Given the description of an element on the screen output the (x, y) to click on. 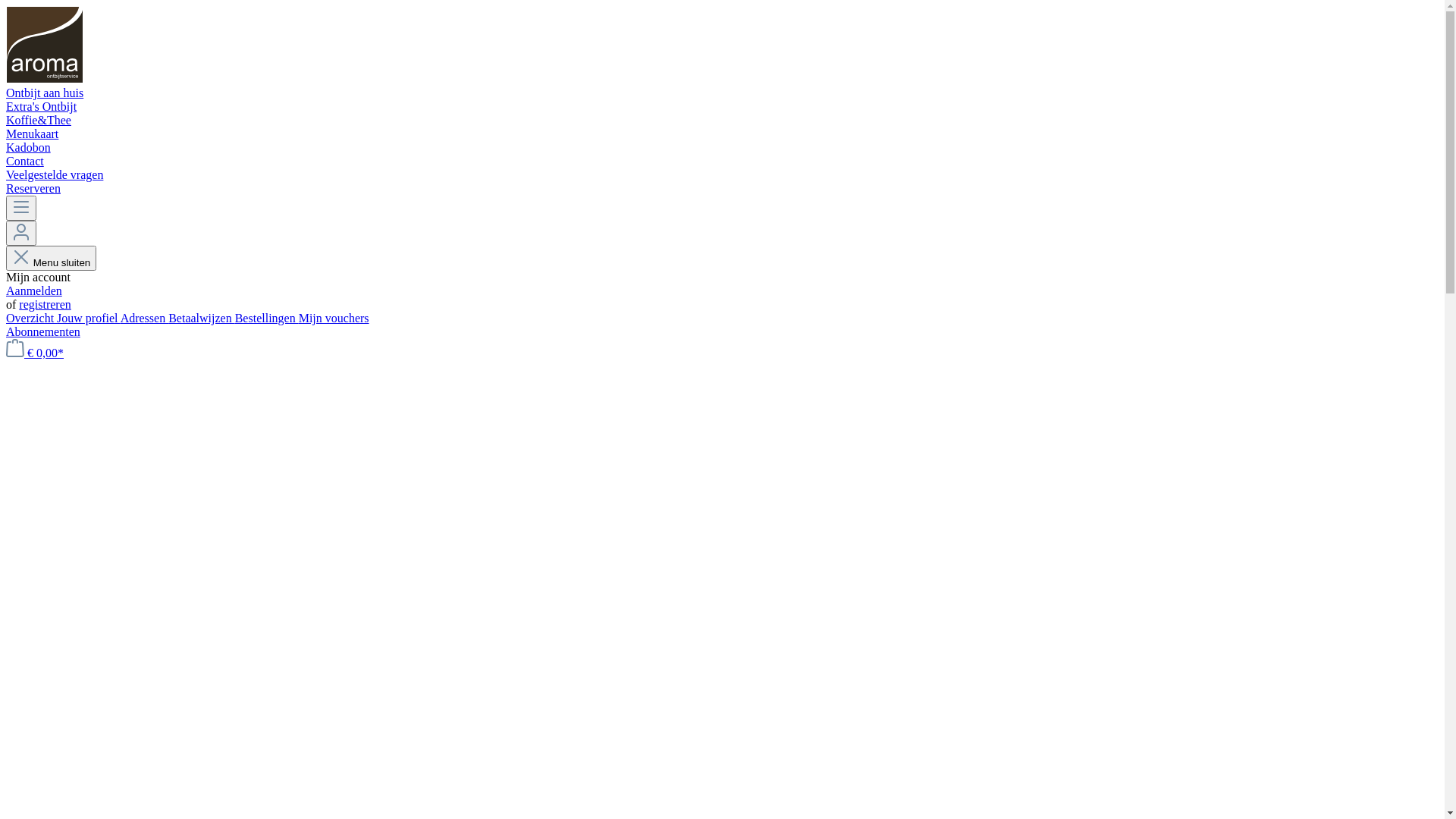
Menukaart Element type: text (722, 134)
Adressen Element type: text (144, 317)
Jouw profiel Element type: text (88, 317)
registreren Element type: text (44, 304)
Aanmelden Element type: text (34, 290)
Menu sluiten Element type: text (51, 257)
Reserveren Element type: text (722, 188)
Koffie&Thee Element type: text (722, 120)
Bestellingen Element type: text (266, 317)
Veelgestelde vragen Element type: text (722, 175)
Mijn account Element type: hover (21, 232)
Extra's Ontbijt Element type: text (722, 106)
Contact Element type: text (722, 161)
Kadobon Element type: text (722, 147)
Betaalwijzen Element type: text (201, 317)
Ontbijt aan huis Element type: text (722, 93)
Overzicht Element type: text (31, 317)
Mijn vouchers Element type: text (333, 317)
Abonnementen Element type: text (43, 331)
Naar de startpagina Element type: hover (44, 78)
